Given the description of an element on the screen output the (x, y) to click on. 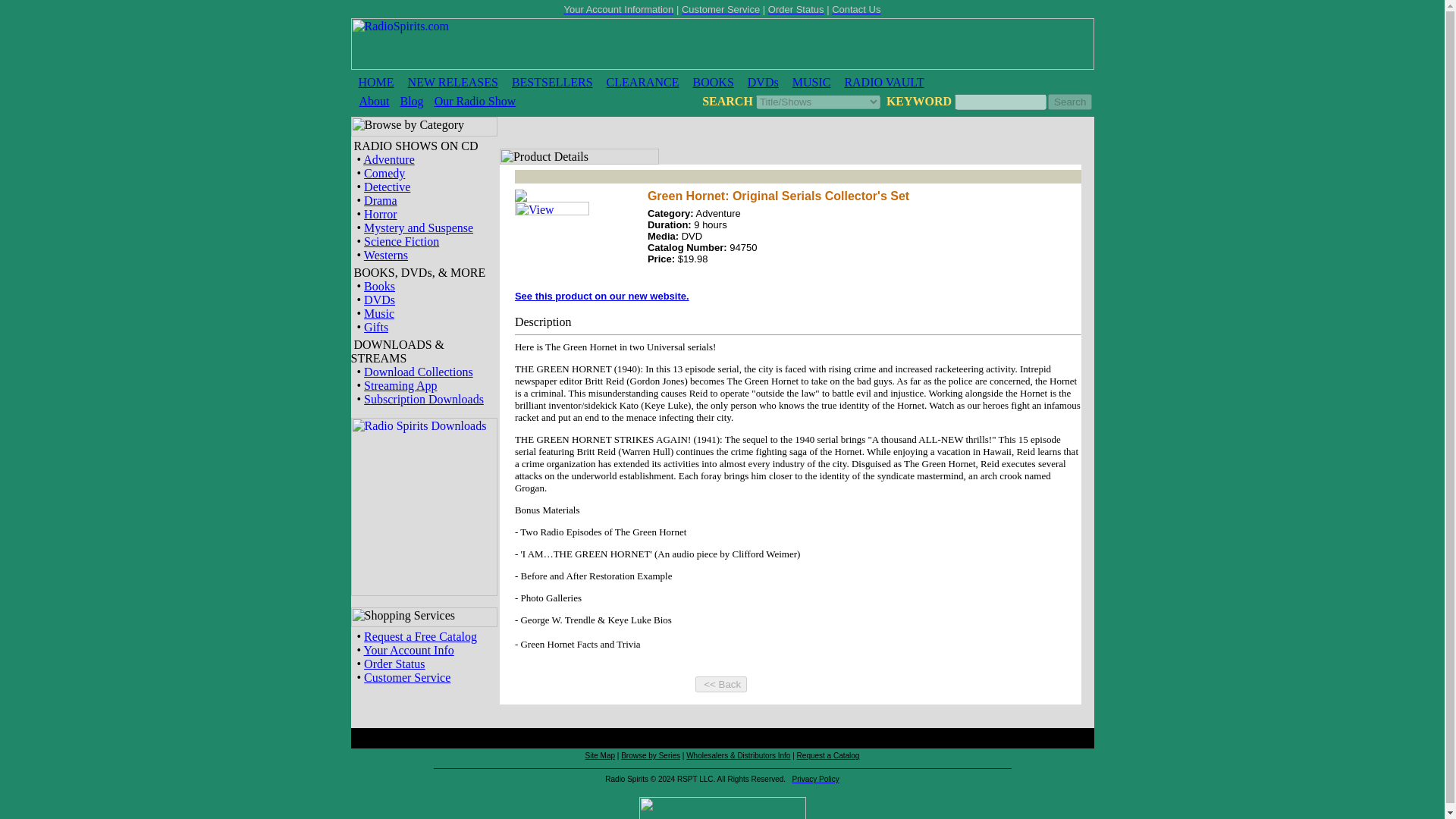
Gifts (376, 327)
RADIO VAULT (883, 82)
About (374, 101)
Customer Service (406, 676)
MUSIC (811, 82)
Science Fiction (401, 241)
Blog (411, 101)
CLEARANCE (643, 82)
Your Account Information (619, 9)
Search (1070, 101)
Contact Us (855, 9)
Customer Service (720, 9)
Your Account Info (409, 649)
Books (379, 286)
Subscription Downloads (423, 399)
